Given the description of an element on the screen output the (x, y) to click on. 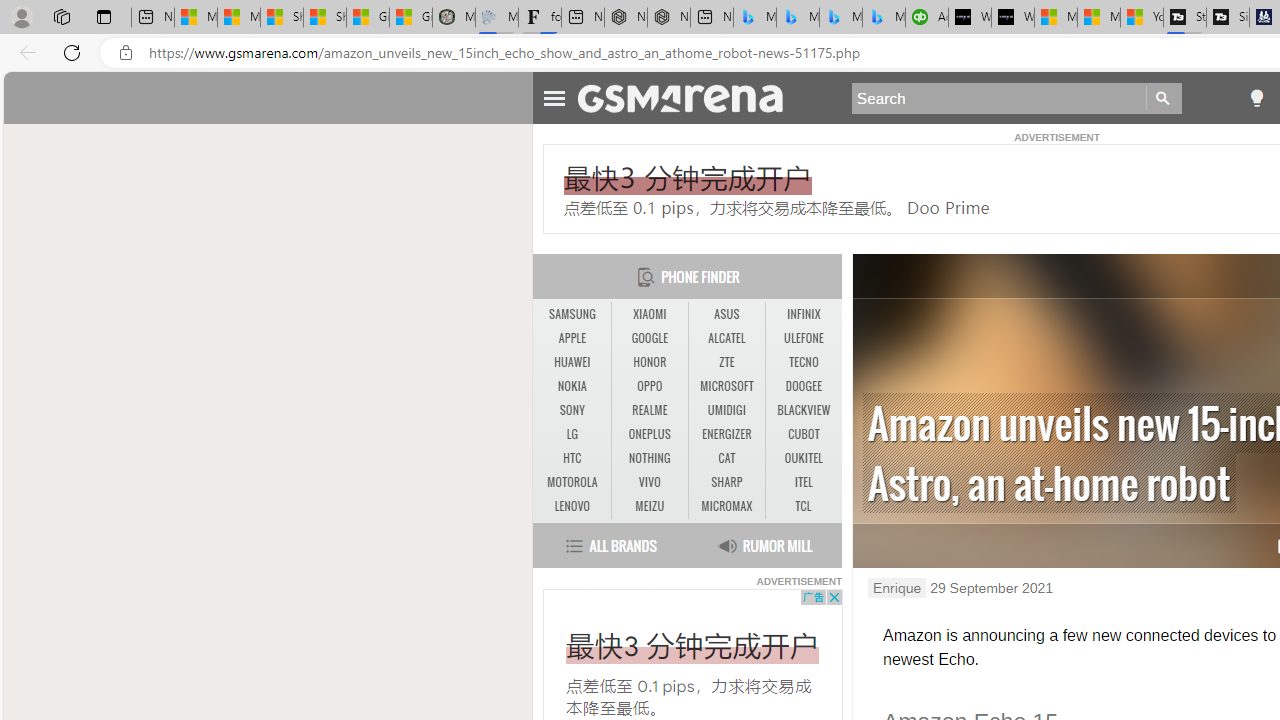
APPLE (571, 339)
NOTHING (649, 458)
Microsoft Bing Travel - Shangri-La Hotel Bangkok (883, 17)
HONOR (649, 362)
MICROMAX (726, 506)
ZTE (726, 362)
TCL (803, 506)
BLACKVIEW (803, 411)
CUBOT (803, 434)
